Given the description of an element on the screen output the (x, y) to click on. 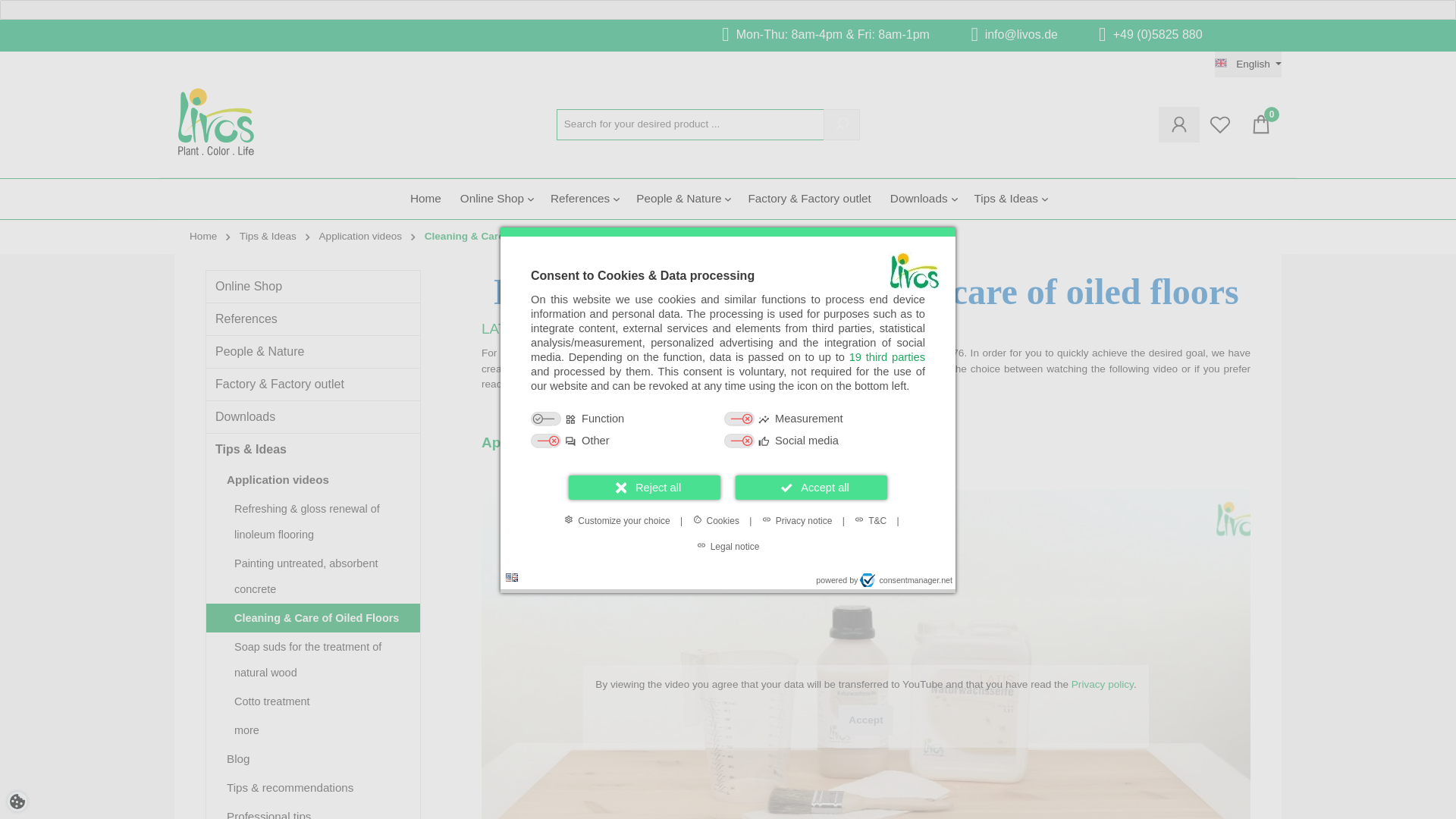
consentmanager.net (906, 580)
Accept all (810, 486)
Your account (1178, 124)
Home (435, 199)
Go to homepage (215, 120)
Privacy notice (797, 519)
Home (435, 199)
Purpose (727, 430)
Online Shop (505, 199)
Cookies (715, 519)
References (593, 199)
Legal notice (727, 545)
English (1247, 63)
Language: en (511, 577)
Wishlist (1219, 124)
